Given the description of an element on the screen output the (x, y) to click on. 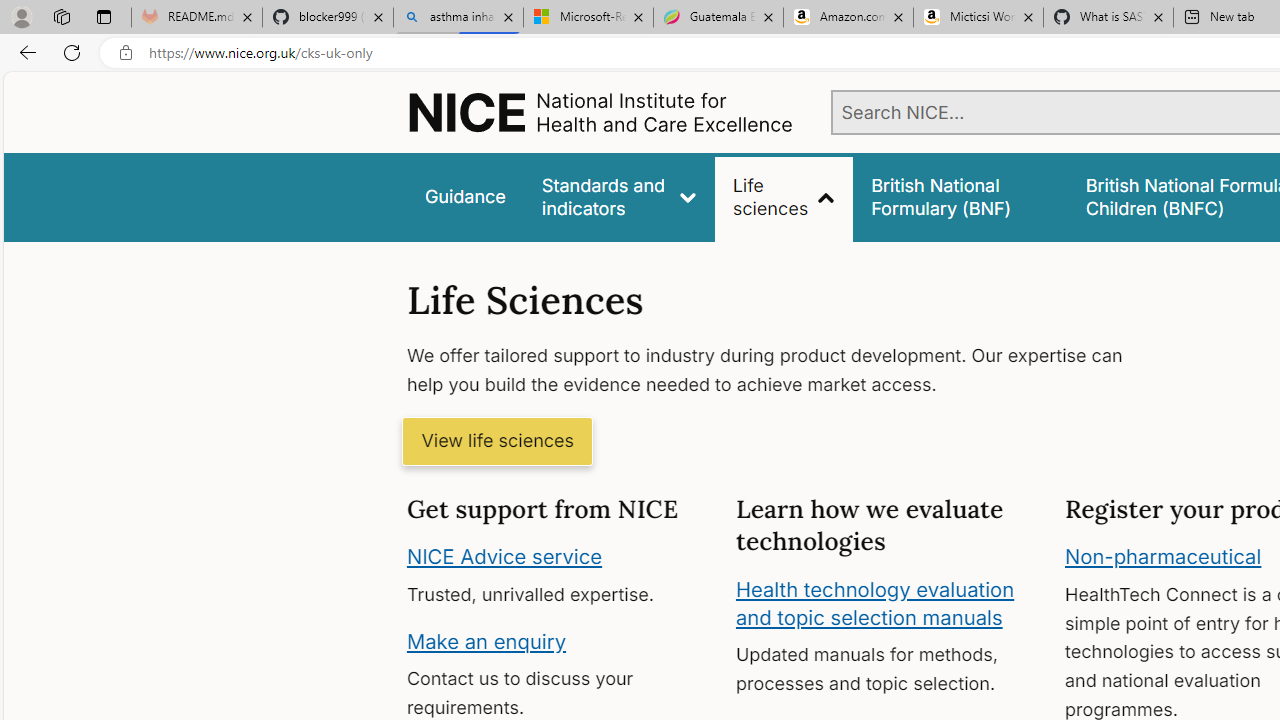
Non-pharmaceutical (1163, 557)
false (959, 196)
View life sciences (497, 441)
Make an enquiry (486, 640)
